Given the description of an element on the screen output the (x, y) to click on. 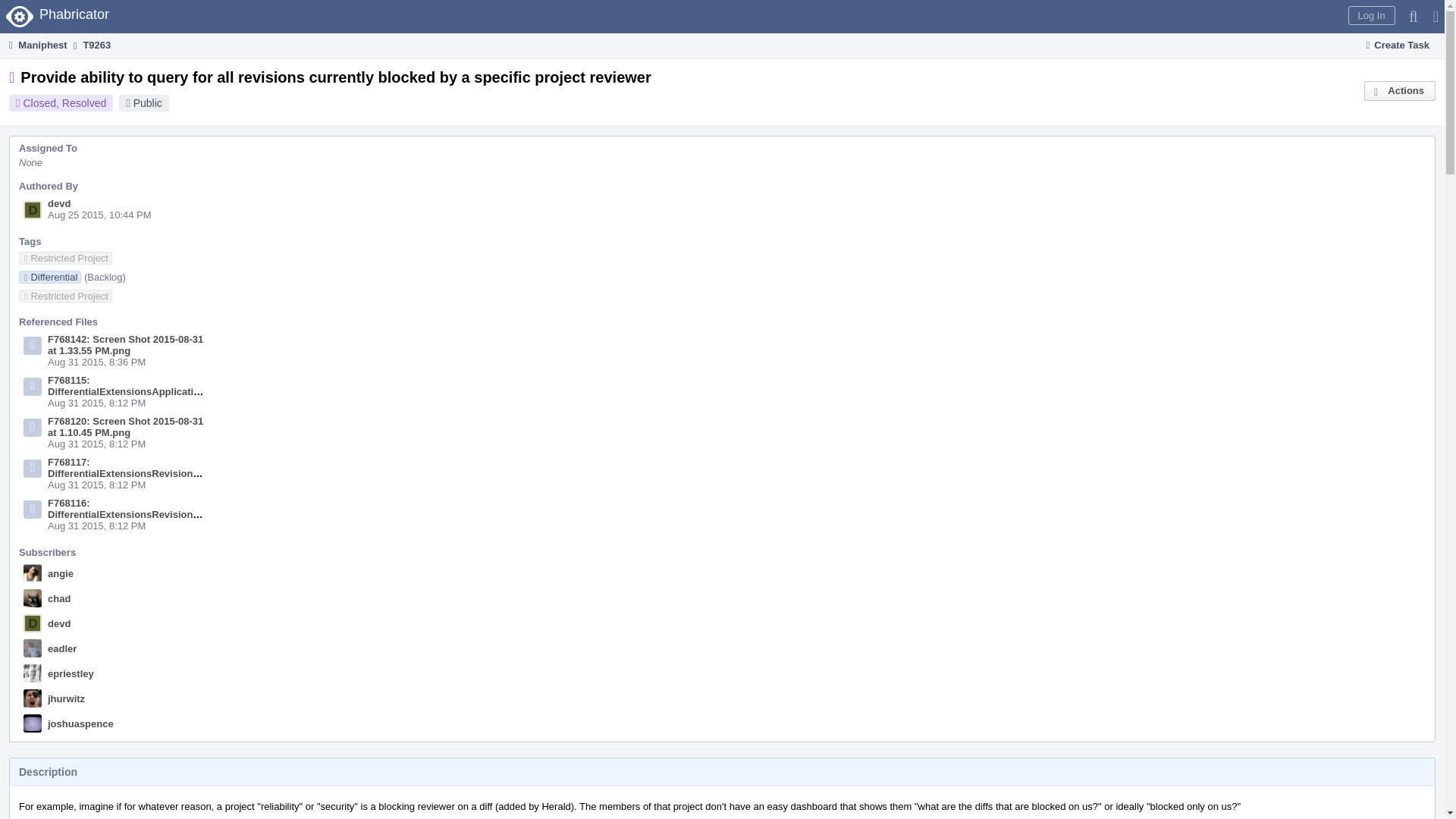
F768116: DifferentialExtensionsRevisionSearchEngine.php (163, 508)
F768142: Screen Shot 2015-08-31 at 1.33.55 PM.png (125, 344)
Log In (1371, 15)
Maniphest (35, 44)
devd (58, 203)
Differential (49, 276)
F768120: Screen Shot 2015-08-31 at 1.10.45 PM.png (125, 426)
Public (147, 102)
F768115: DifferentialExtensionsApplication.php (136, 385)
Phabricator (58, 16)
